Given the description of an element on the screen output the (x, y) to click on. 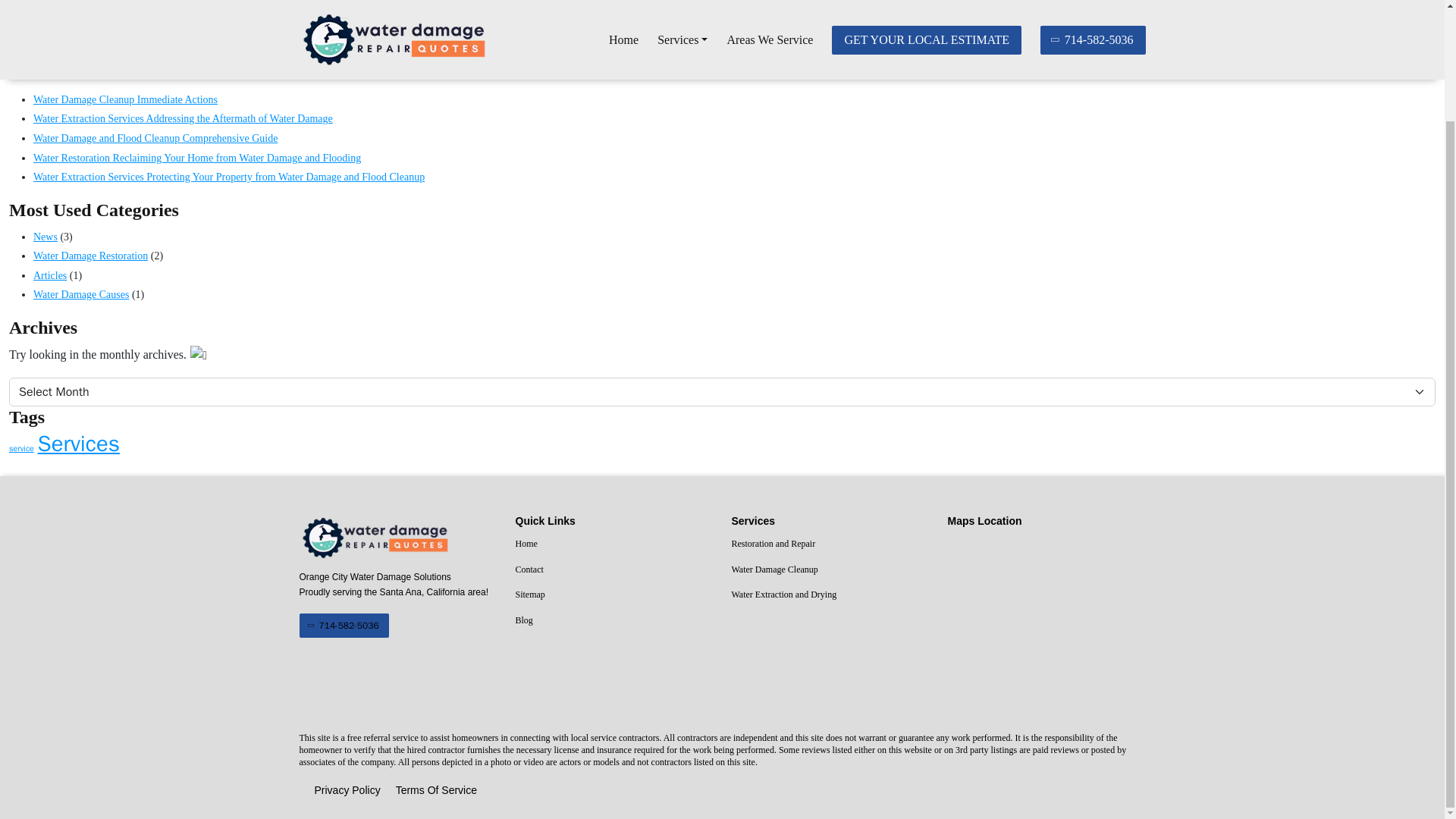
Services (78, 443)
Search (1406, 47)
Terms Of Service (436, 790)
Home (614, 544)
Sitemap (614, 595)
Blog (614, 620)
Water Damage and Flood Cleanup Comprehensive Guide (155, 138)
service (20, 448)
News (45, 236)
714-582-5036 (343, 625)
Water Damage Cleanup (829, 569)
Search (1406, 47)
